Given the description of an element on the screen output the (x, y) to click on. 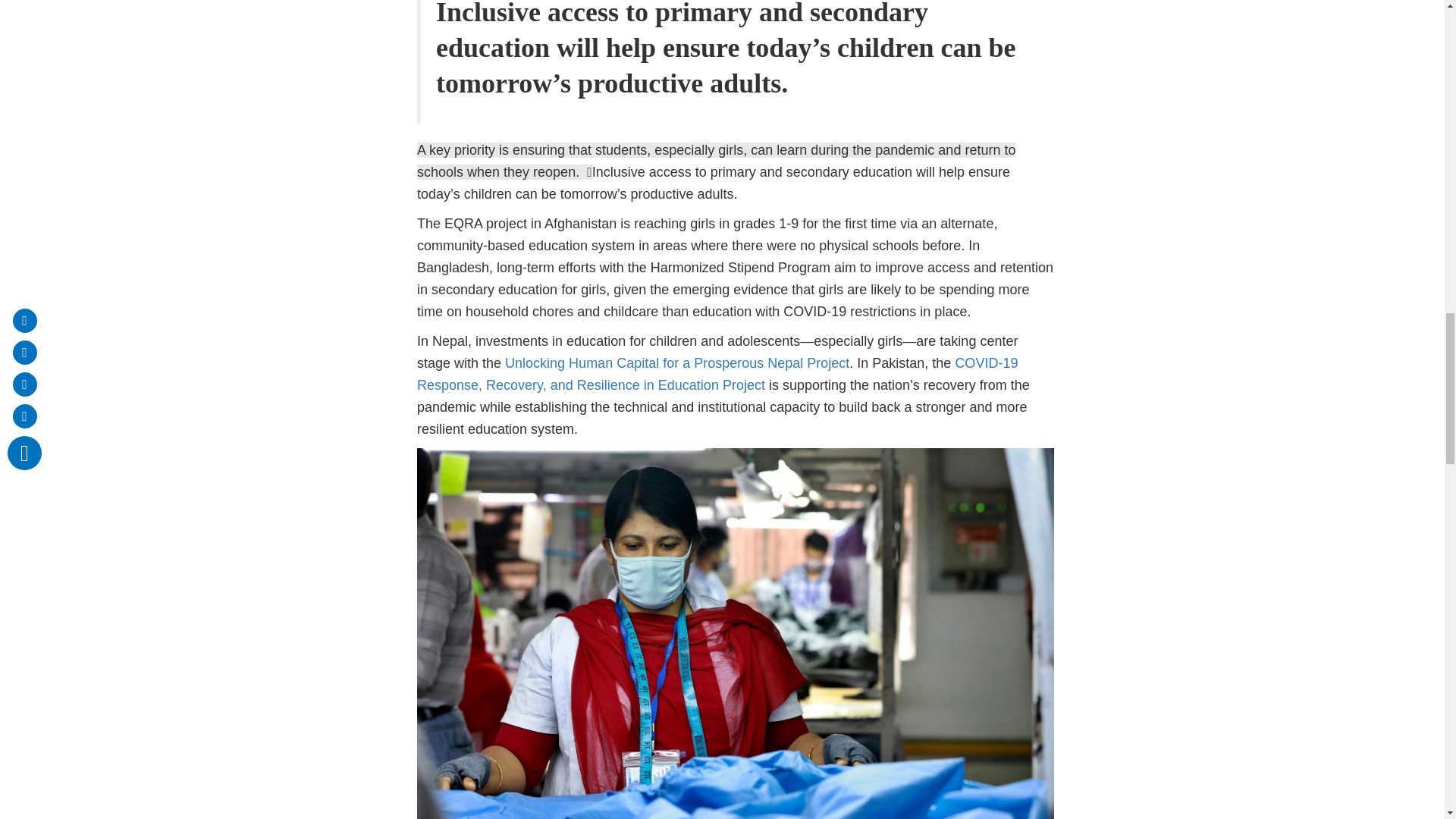
Unlocking Human Capital for a Prosperous Nepal Project (676, 363)
